Given the description of an element on the screen output the (x, y) to click on. 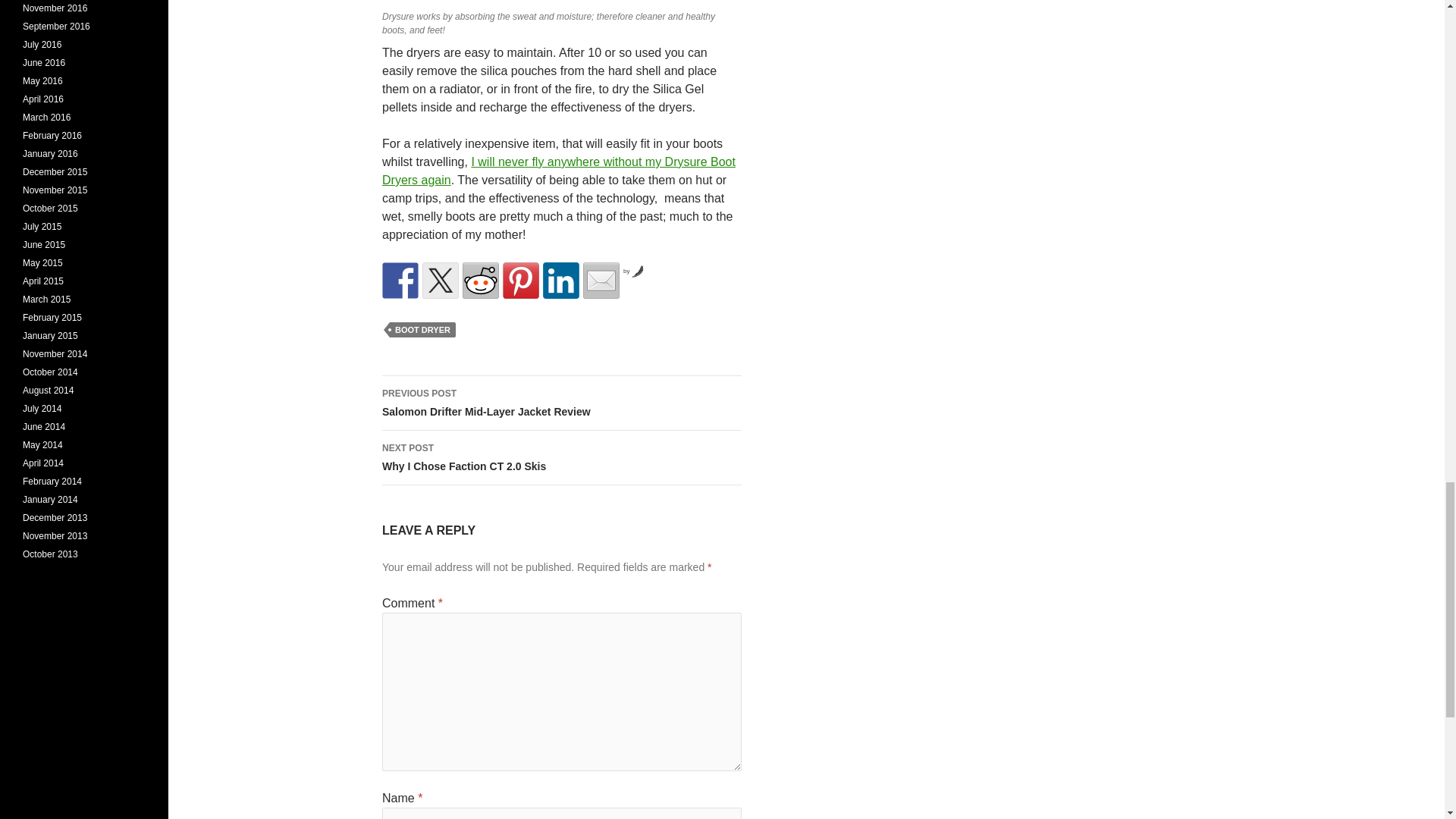
BOOT DRYER (422, 329)
by (633, 270)
Share on Reddit (481, 280)
Share on Twitter (440, 280)
Share on Linkedin (561, 280)
Pin it with Pinterest (561, 457)
Share by email (520, 280)
